Given the description of an element on the screen output the (x, y) to click on. 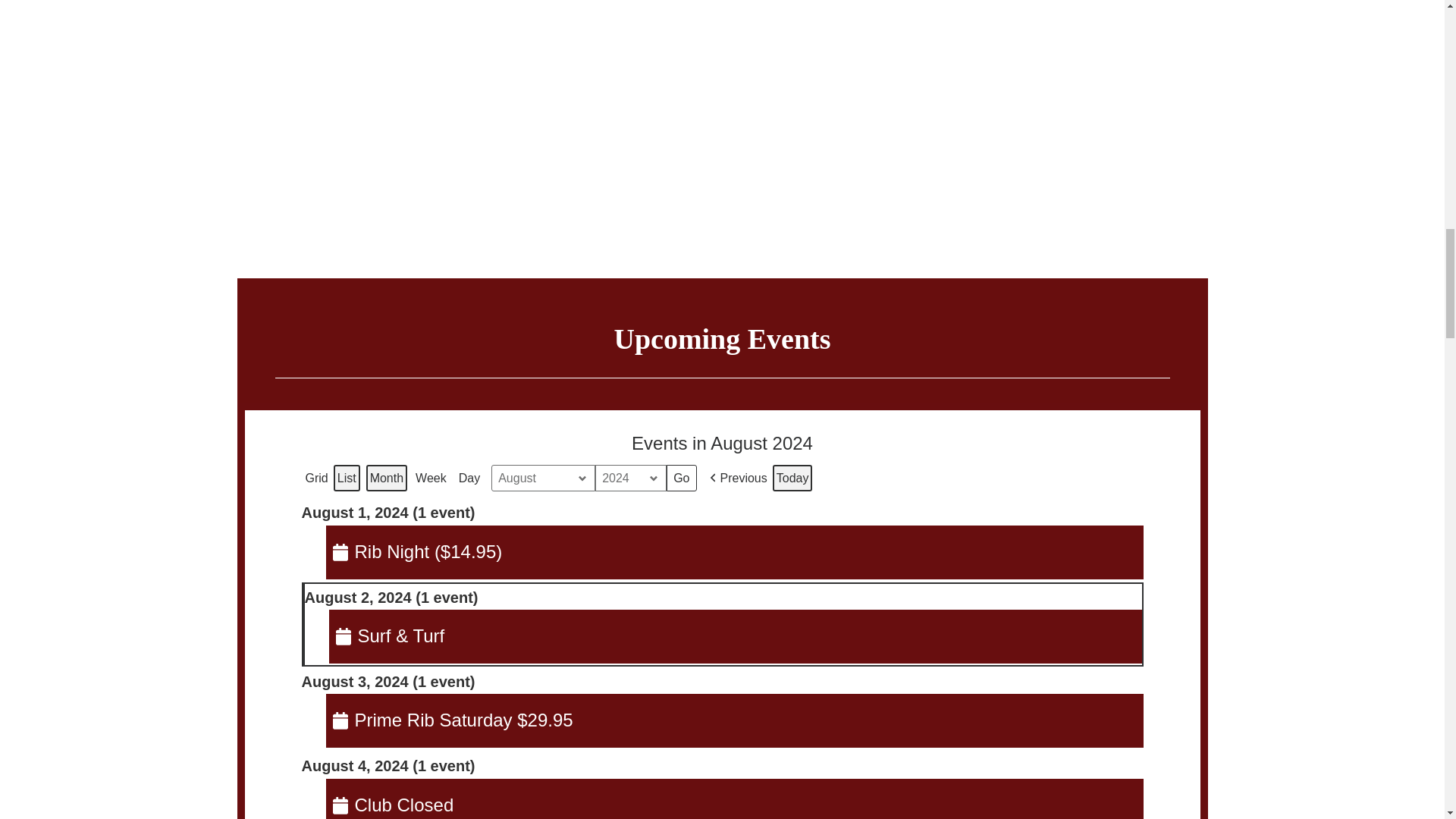
Go (680, 478)
